Given the description of an element on the screen output the (x, y) to click on. 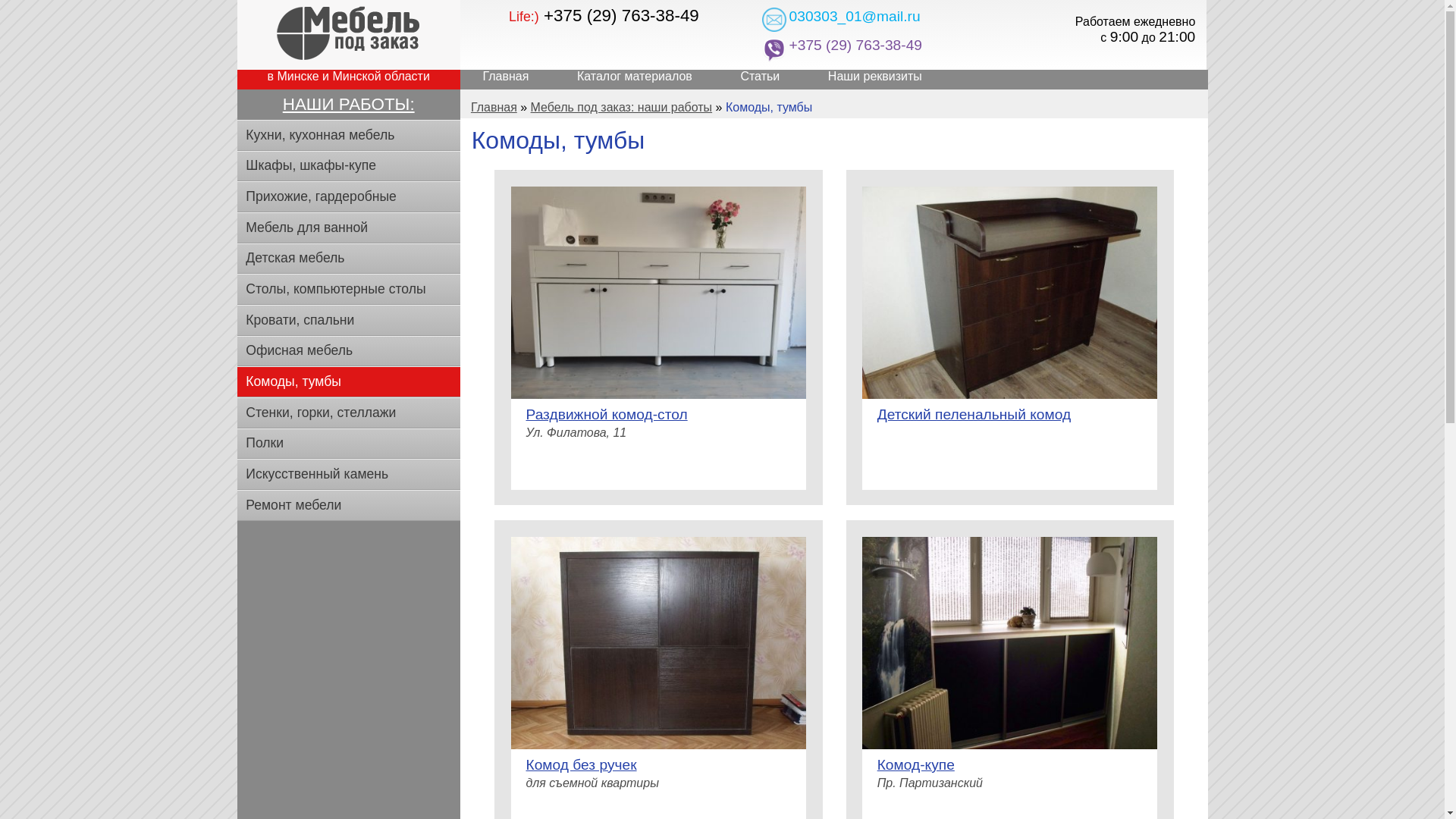
030303_01@mail.ru Element type: text (854, 16)
+375 (29) 763-38-49 Element type: text (870, 43)
